Given the description of an element on the screen output the (x, y) to click on. 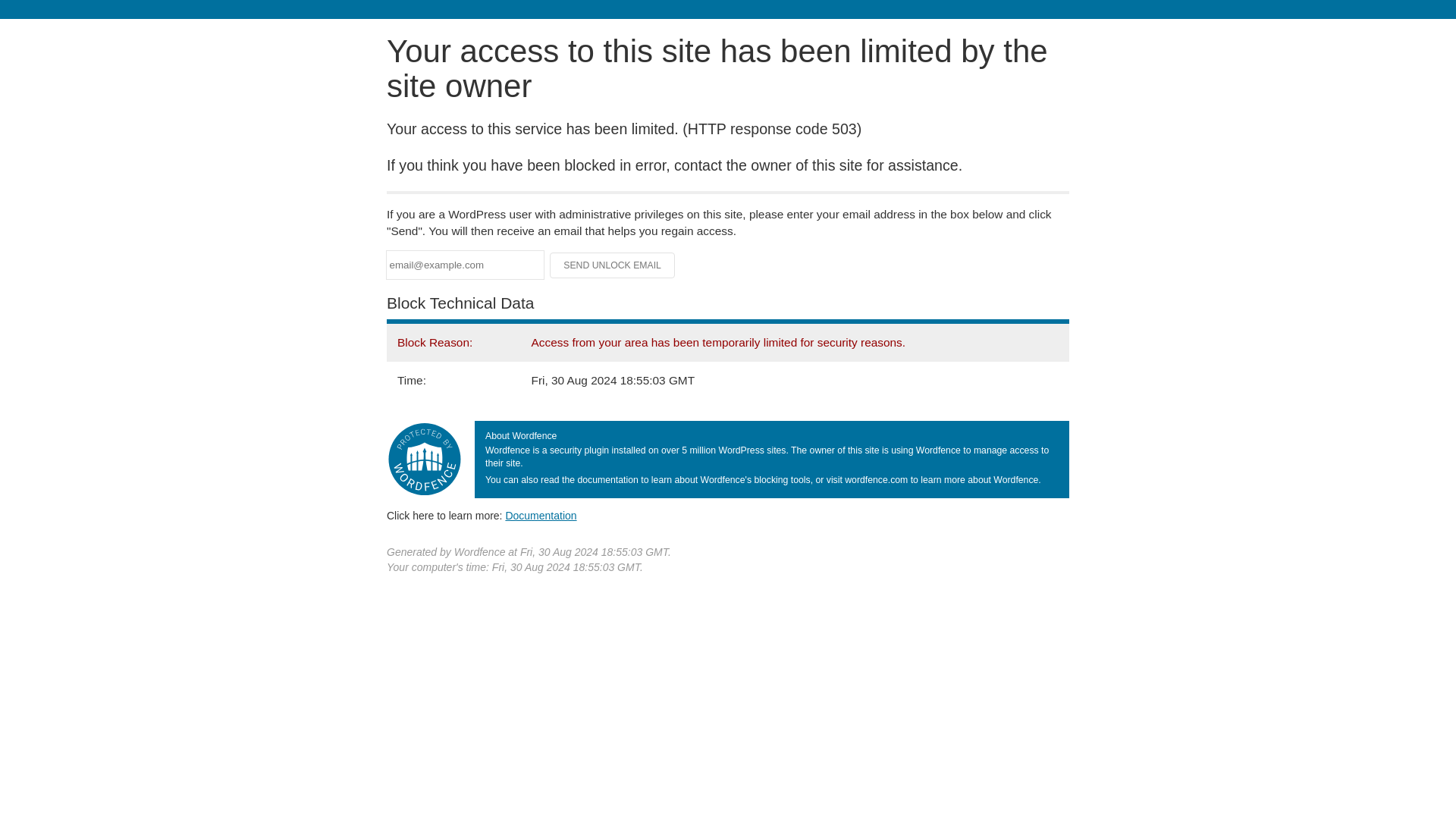
Documentation (540, 515)
Send Unlock Email (612, 265)
Send Unlock Email (612, 265)
